Given the description of an element on the screen output the (x, y) to click on. 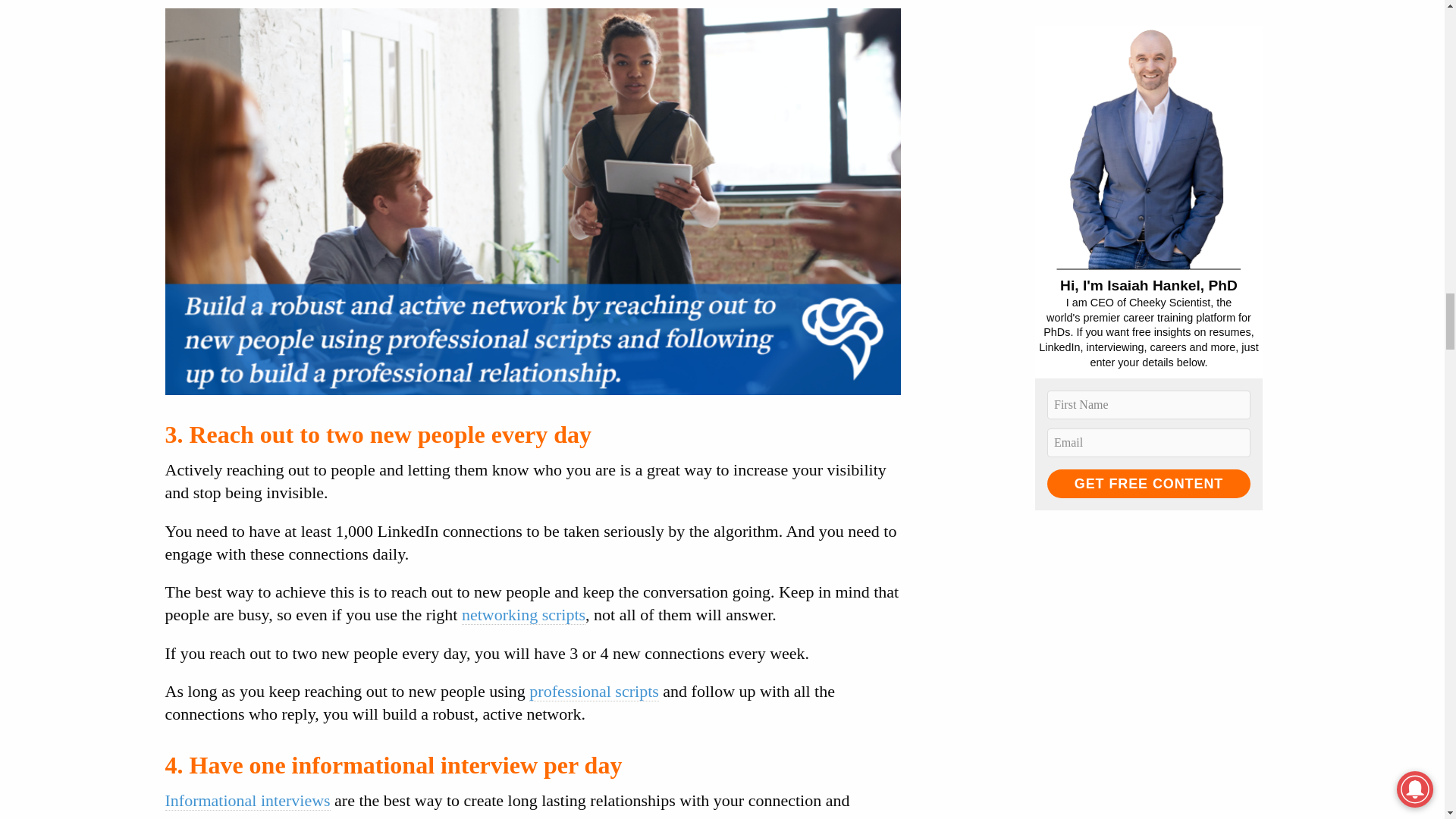
professional scripts (593, 691)
Informational interviews (247, 800)
networking scripts (523, 614)
